Given the description of an element on the screen output the (x, y) to click on. 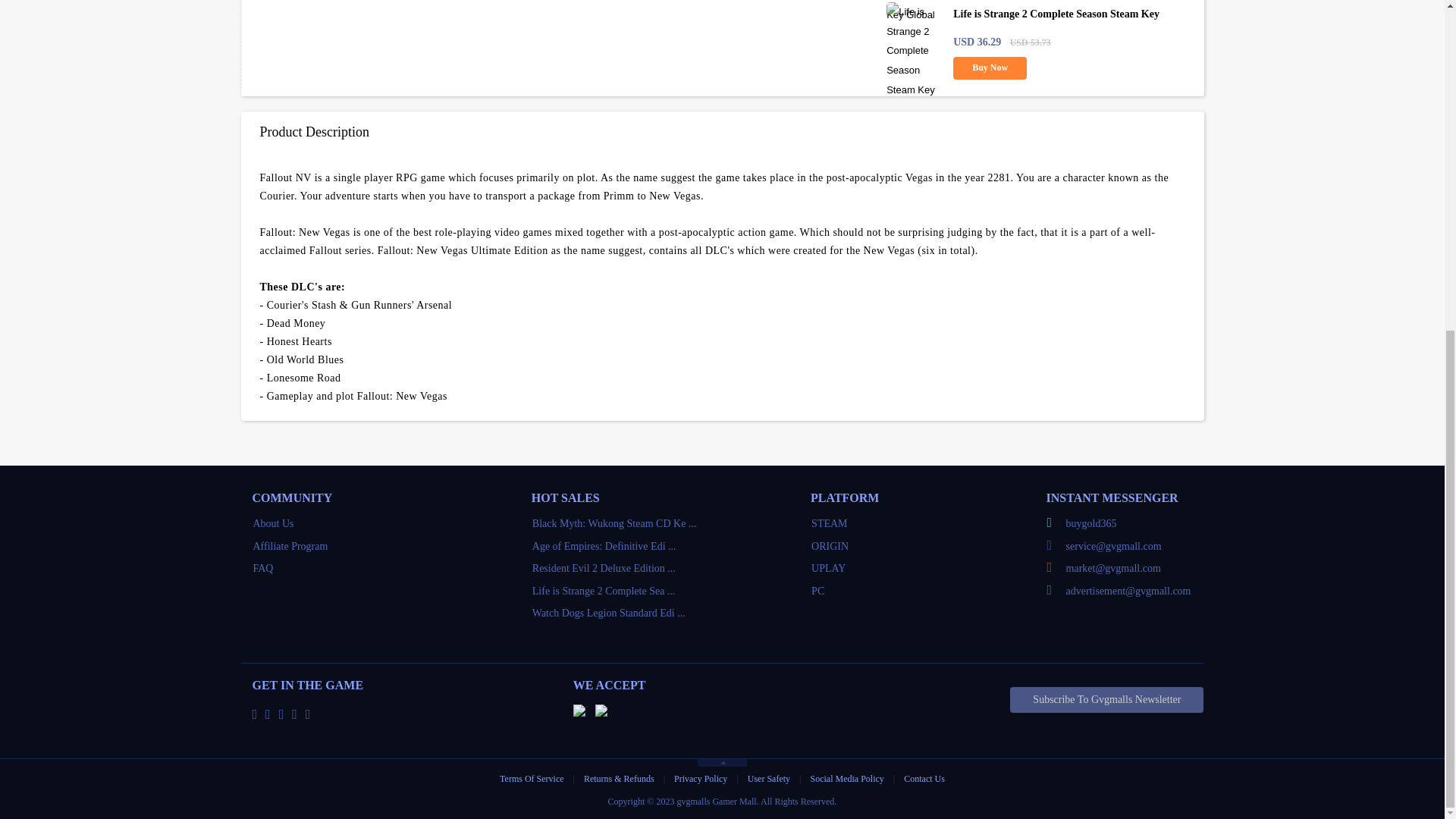
Skype (1130, 523)
FAQ (263, 568)
Black Myth: Wukong Steam CD Ke ... (614, 523)
Life is Strange 2 Complete Season Steam Key (1055, 13)
Age of Empires: Definitive Edition CD Key Global (604, 546)
Age of Empires: Definitive Edi ... (604, 546)
Market Email (1130, 568)
Advertisement Email (1130, 590)
About Us (273, 523)
Black Myth: Wukong Steam CD Key Global (614, 523)
Affiliate Program (291, 546)
Resident Evil 2 Deluxe Edition Steam CD Key Global (603, 568)
Watch Dogs Legion Standard Edition Uplay CD Key EU (608, 613)
Life is Strange 2 Complete Season Steam Key (603, 591)
Customer Email (1130, 546)
